Given the description of an element on the screen output the (x, y) to click on. 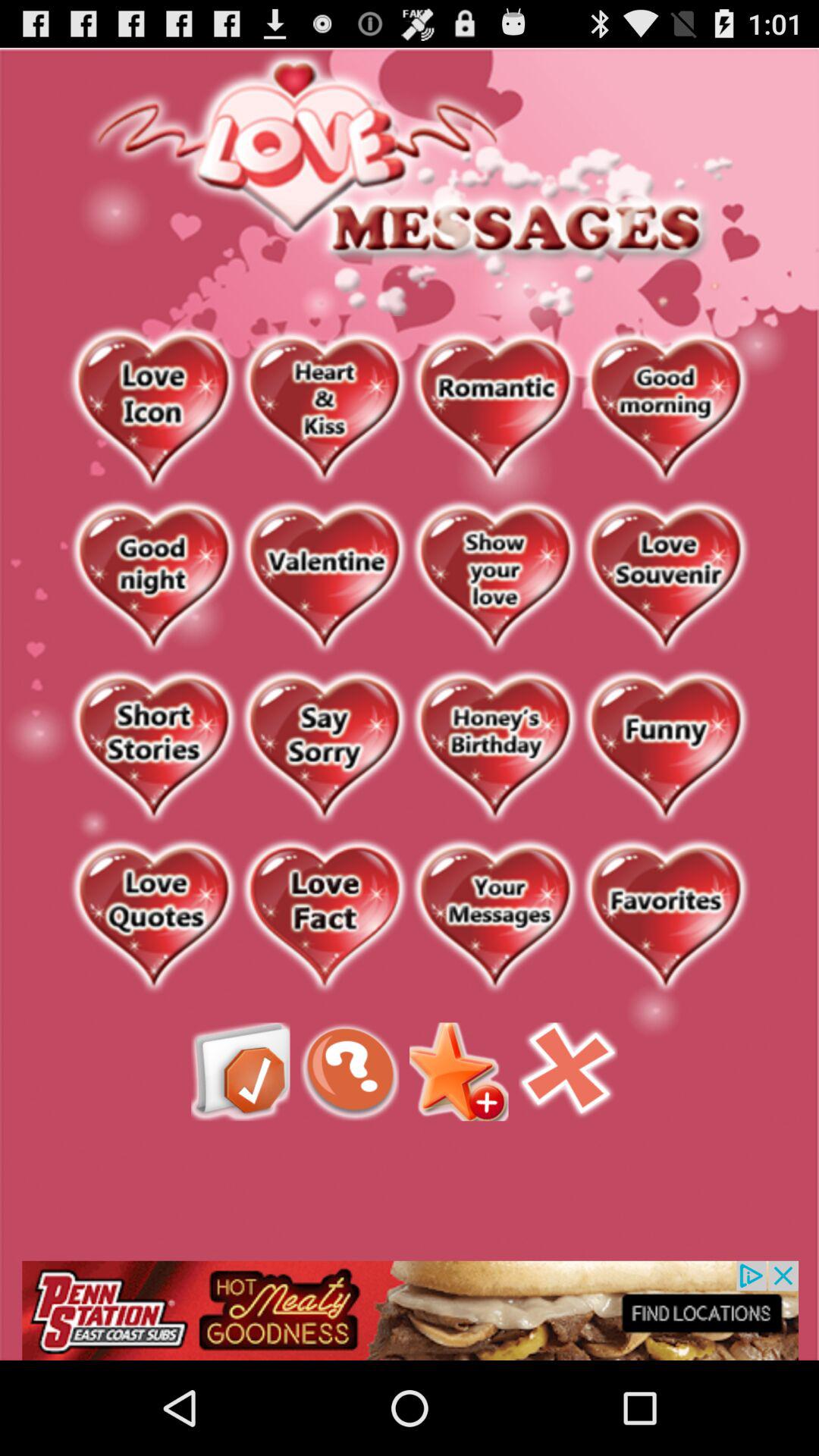
see birthday messages (494, 747)
